Given the description of an element on the screen output the (x, y) to click on. 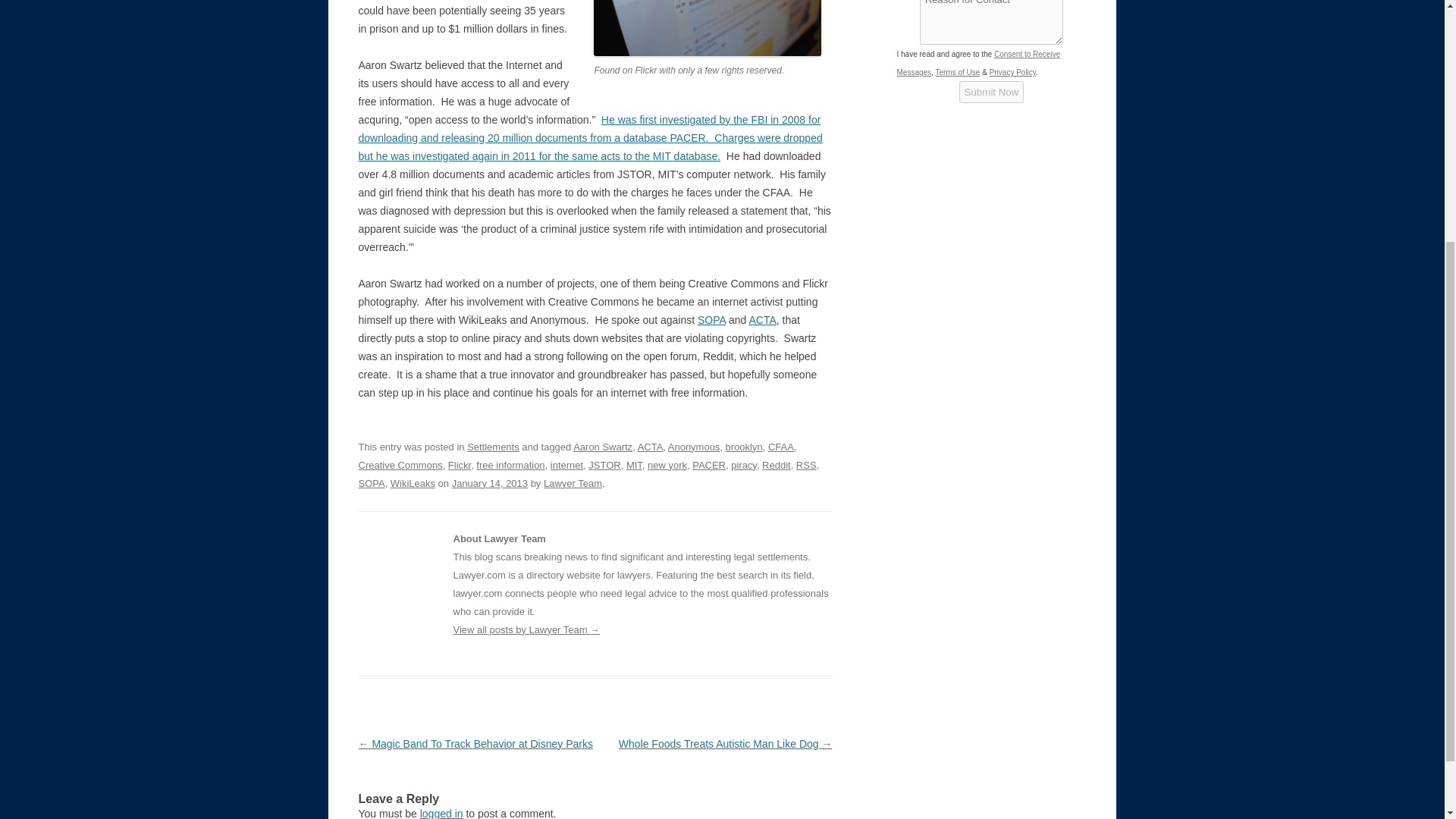
Anonymous (694, 446)
internet (566, 464)
free information (510, 464)
ACTA (762, 319)
RSS (806, 464)
piracy (743, 464)
ACTA (650, 446)
MIT (634, 464)
SOPA (711, 319)
